Given the description of an element on the screen output the (x, y) to click on. 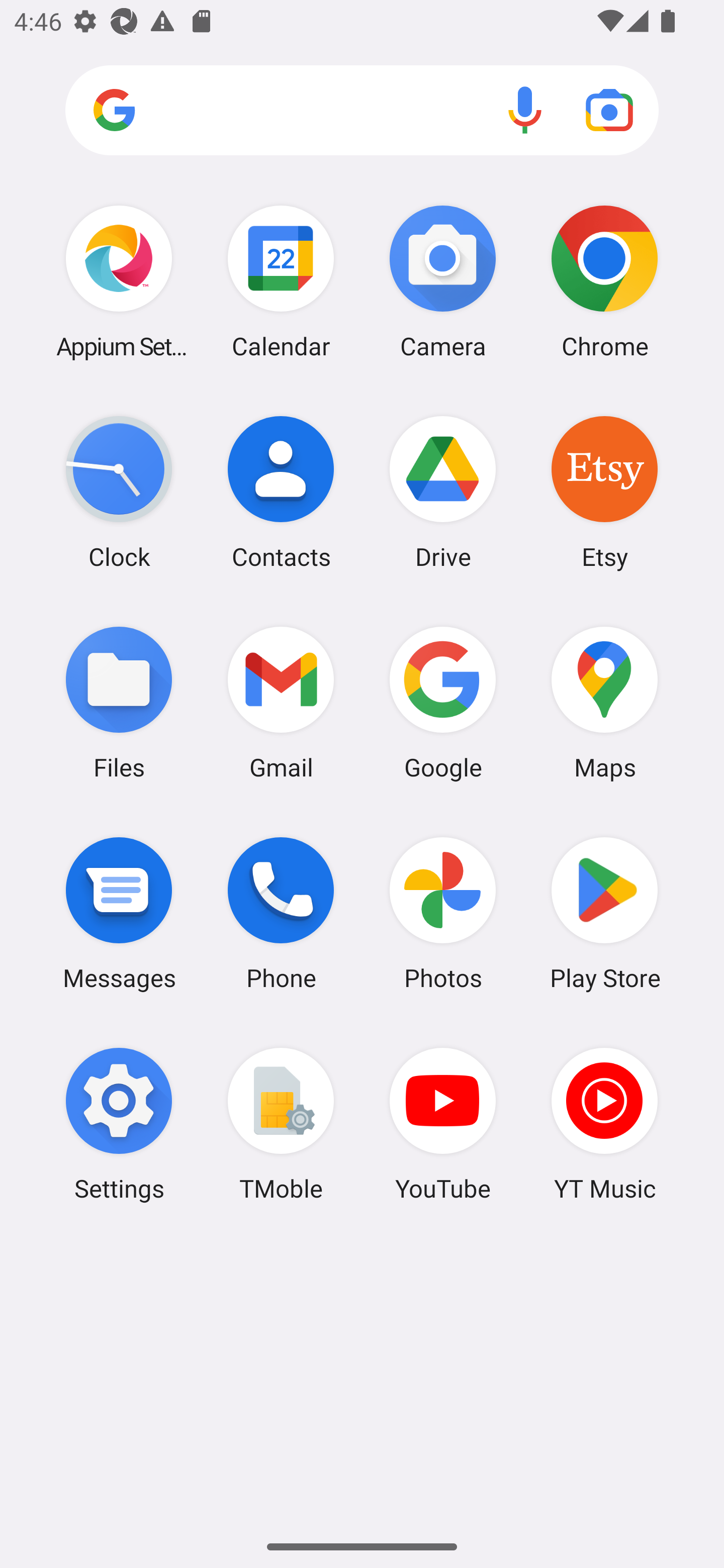
Search apps, web and more (361, 110)
Voice search (524, 109)
Google Lens (608, 109)
Appium Settings (118, 281)
Calendar (280, 281)
Camera (443, 281)
Chrome (604, 281)
Clock (118, 492)
Contacts (280, 492)
Drive (443, 492)
Etsy (604, 492)
Files (118, 702)
Gmail (280, 702)
Google (443, 702)
Maps (604, 702)
Messages (118, 913)
Phone (280, 913)
Photos (443, 913)
Play Store (604, 913)
Settings (118, 1124)
TMoble (280, 1124)
YouTube (443, 1124)
YT Music (604, 1124)
